Given the description of an element on the screen output the (x, y) to click on. 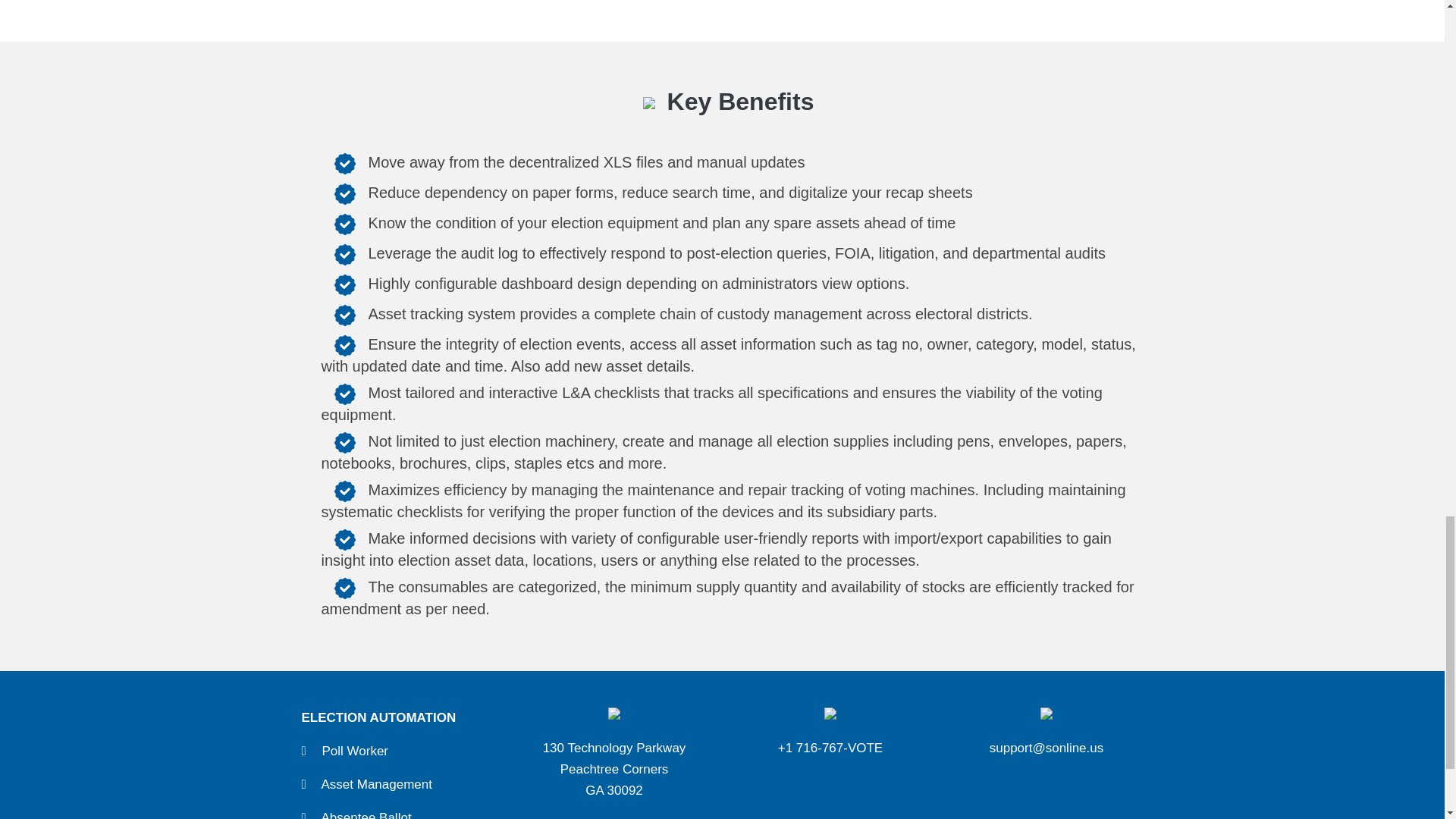
Asset Management (376, 784)
Poll Worker (354, 750)
Absentee Ballot (366, 814)
